Given the description of an element on the screen output the (x, y) to click on. 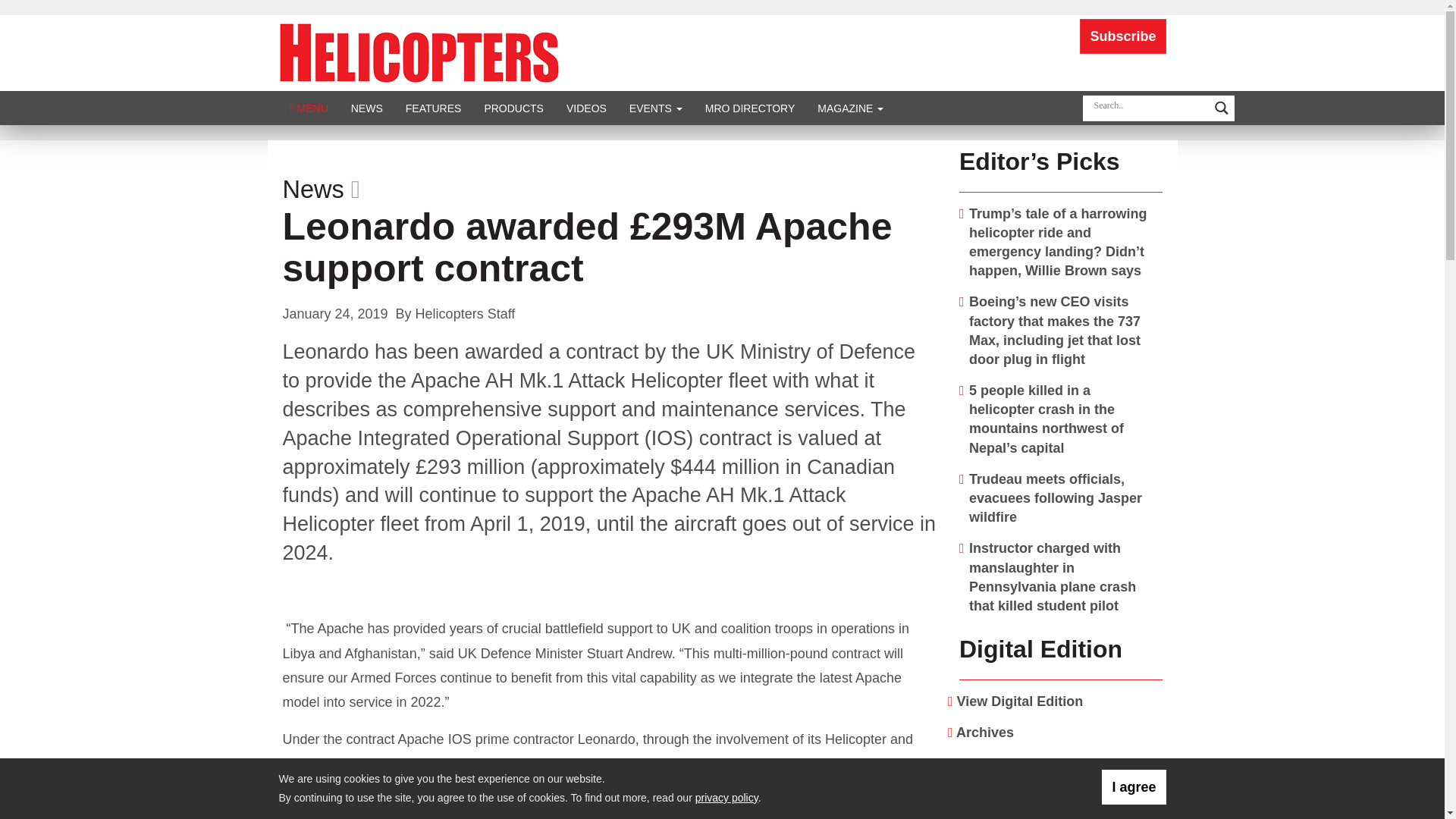
Click to show site navigation (309, 107)
EVENTS (655, 107)
FEATURES (433, 107)
Helicopters Magazine (419, 52)
NEWS (366, 107)
MRO DIRECTORY (750, 107)
Subscribe (1123, 36)
PRODUCTS (512, 107)
MENU (309, 107)
VIDEOS (585, 107)
